Given the description of an element on the screen output the (x, y) to click on. 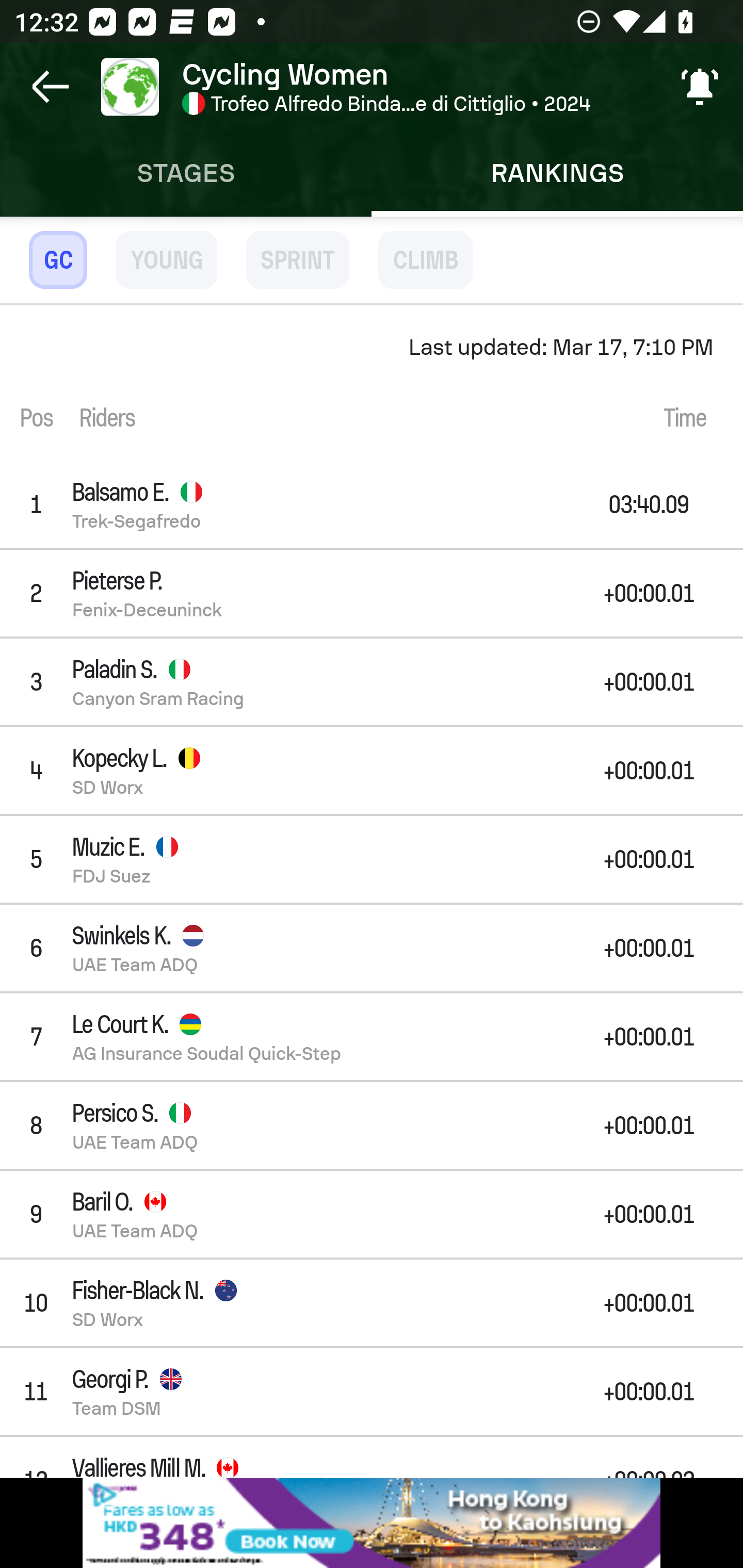
Navigate up (50, 86)
Stages STAGES (185, 173)
GC (57, 259)
Last updated: Mar 17, 7:10 PM Pos Riders Time (371, 382)
1 Balsamo E. Trek-Segafredo 03:40.09 (371, 503)
2 Pieterse P. Fenix-Deceuninck +00:00.01 (371, 593)
3 Paladin S. Canyon Sram Racing +00:00.01 (371, 681)
4 Kopecky L. SD Worx +00:00.01 (371, 770)
5 Muzic E. FDJ Suez +00:00.01 (371, 859)
6 Swinkels K. UAE Team ADQ +00:00.01 (371, 947)
8 Persico S. UAE Team ADQ +00:00.01 (371, 1124)
9 Baril O. UAE Team ADQ +00:00.01 (371, 1214)
10 Fisher-Black N. SD Worx +00:00.01 (371, 1302)
11 Georgi P. Team DSM +00:00.01 (371, 1391)
ijqm75ea_320x50 (371, 1522)
